Given the description of an element on the screen output the (x, y) to click on. 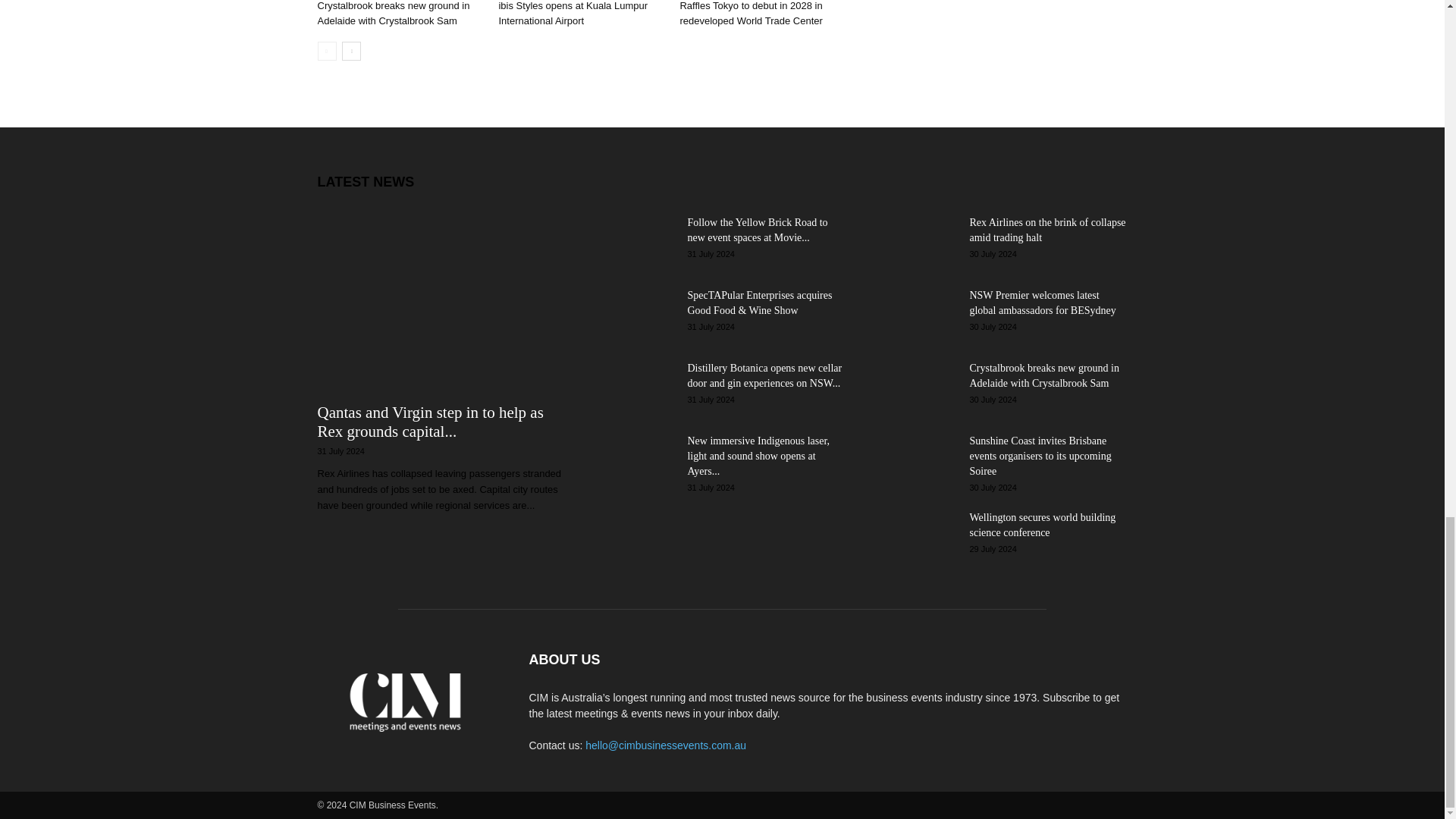
ibis Styles opens at Kuala Lumpur International Airport (572, 13)
